Given the description of an element on the screen output the (x, y) to click on. 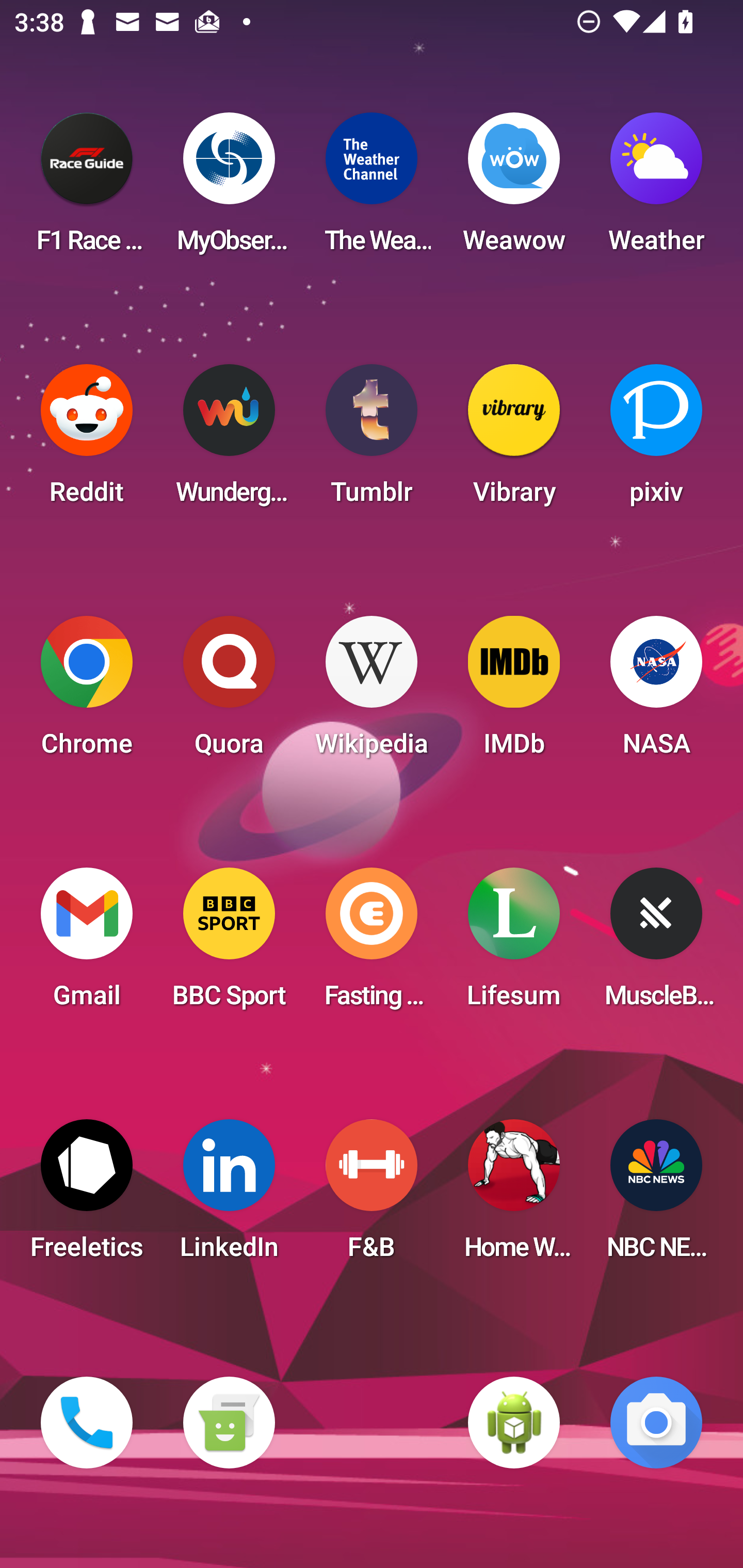
F1 Race Guide (86, 188)
MyObservatory (228, 188)
The Weather Channel (371, 188)
Weawow (513, 188)
Weather (656, 188)
Reddit (86, 440)
Wunderground (228, 440)
Tumblr (371, 440)
Vibrary (513, 440)
pixiv (656, 440)
Chrome (86, 692)
Quora (228, 692)
Wikipedia (371, 692)
IMDb (513, 692)
NASA (656, 692)
Gmail (86, 943)
BBC Sport (228, 943)
Fasting Coach (371, 943)
Lifesum (513, 943)
MuscleBooster (656, 943)
Freeletics (86, 1195)
LinkedIn (228, 1195)
F&B (371, 1195)
Home Workout (513, 1195)
NBC NEWS (656, 1195)
Phone (86, 1422)
Messaging (228, 1422)
WebView Browser Tester (513, 1422)
Camera (656, 1422)
